Given the description of an element on the screen output the (x, y) to click on. 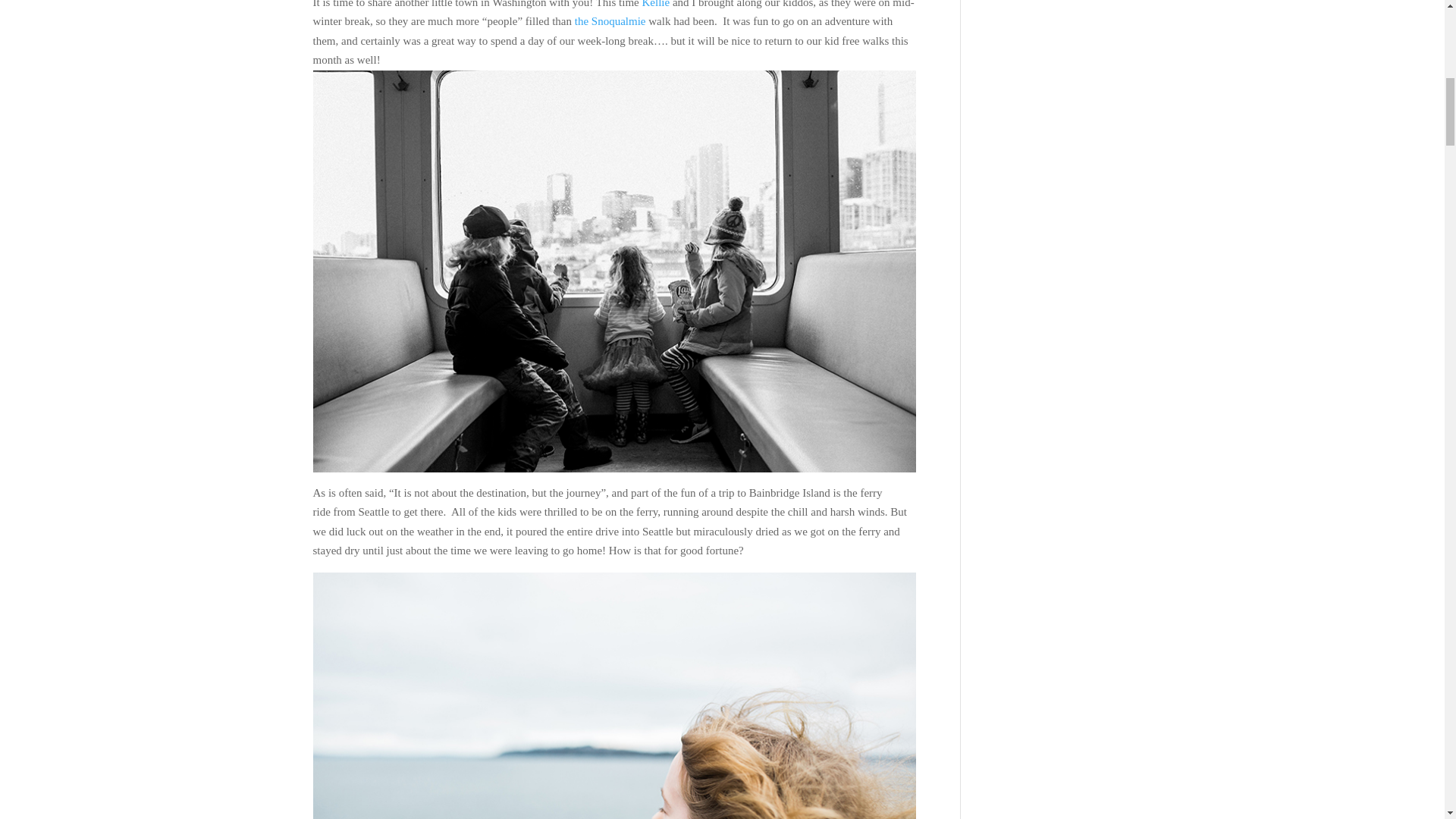
Kellie (657, 4)
the Snoqualmie (612, 21)
